Given the description of an element on the screen output the (x, y) to click on. 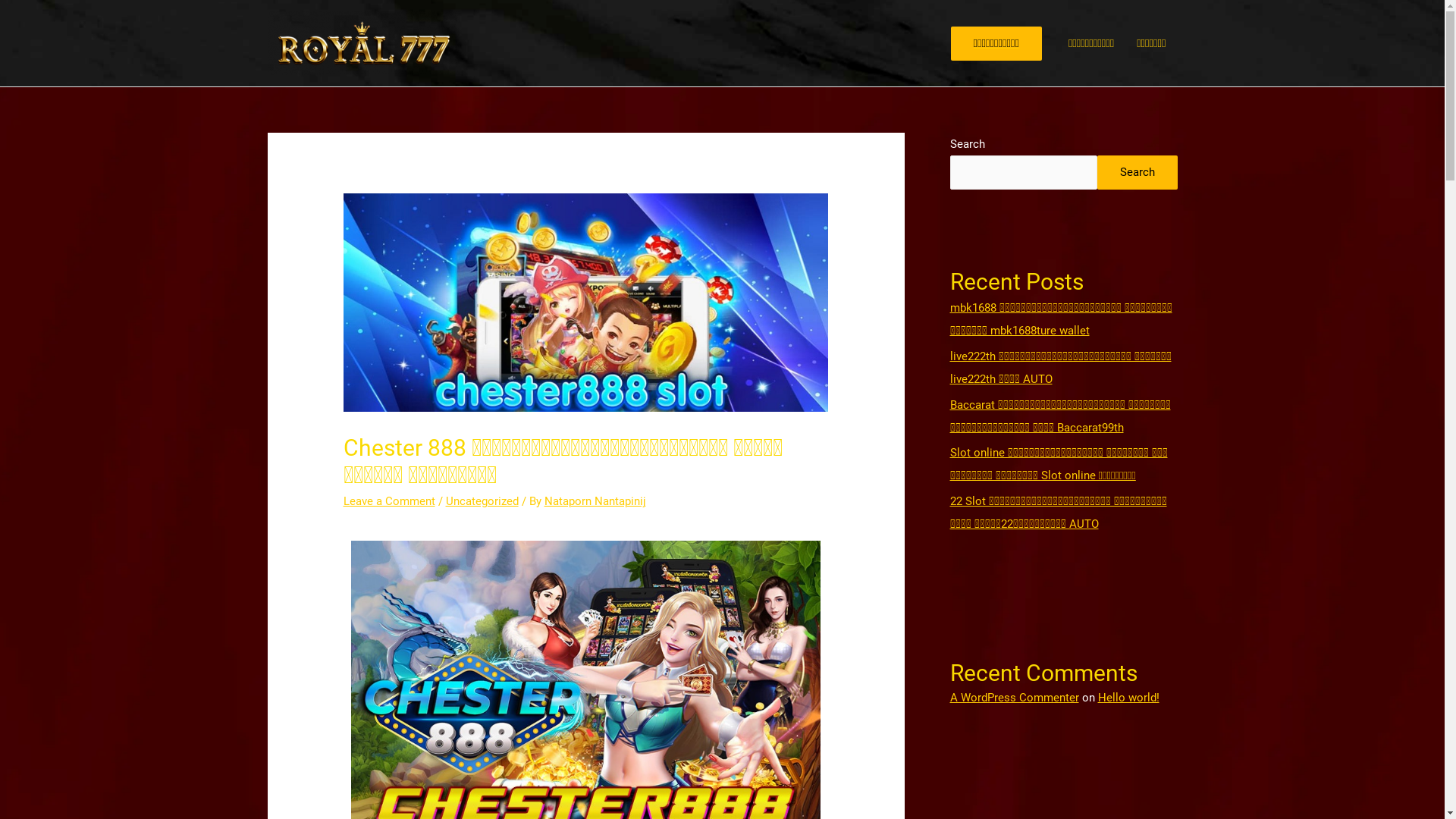
Hello world! Element type: text (1128, 697)
Search Element type: text (1136, 172)
Uncategorized Element type: text (481, 501)
A WordPress Commenter Element type: text (1013, 697)
Nataporn Nantapinij Element type: text (595, 501)
Leave a Comment Element type: text (389, 501)
